Given the description of an element on the screen output the (x, y) to click on. 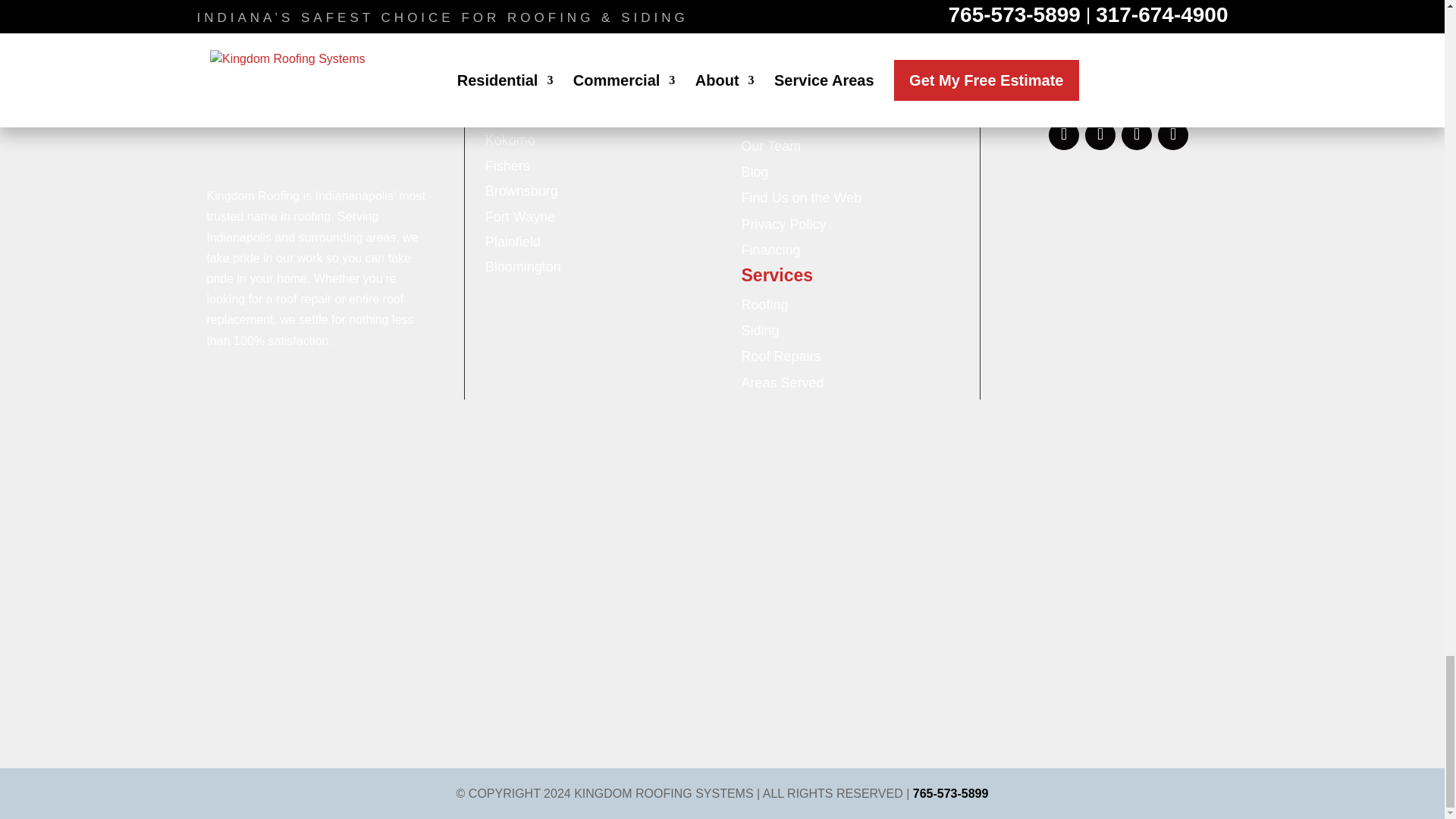
Follow on Youtube (1172, 135)
Follow on LinkedIn (1136, 135)
Follow on Instagram (1099, 135)
Follow on Facebook (1063, 135)
blue-seal-293-61-whitetxt-bbb-90082463 (1109, 180)
